Given the description of an element on the screen output the (x, y) to click on. 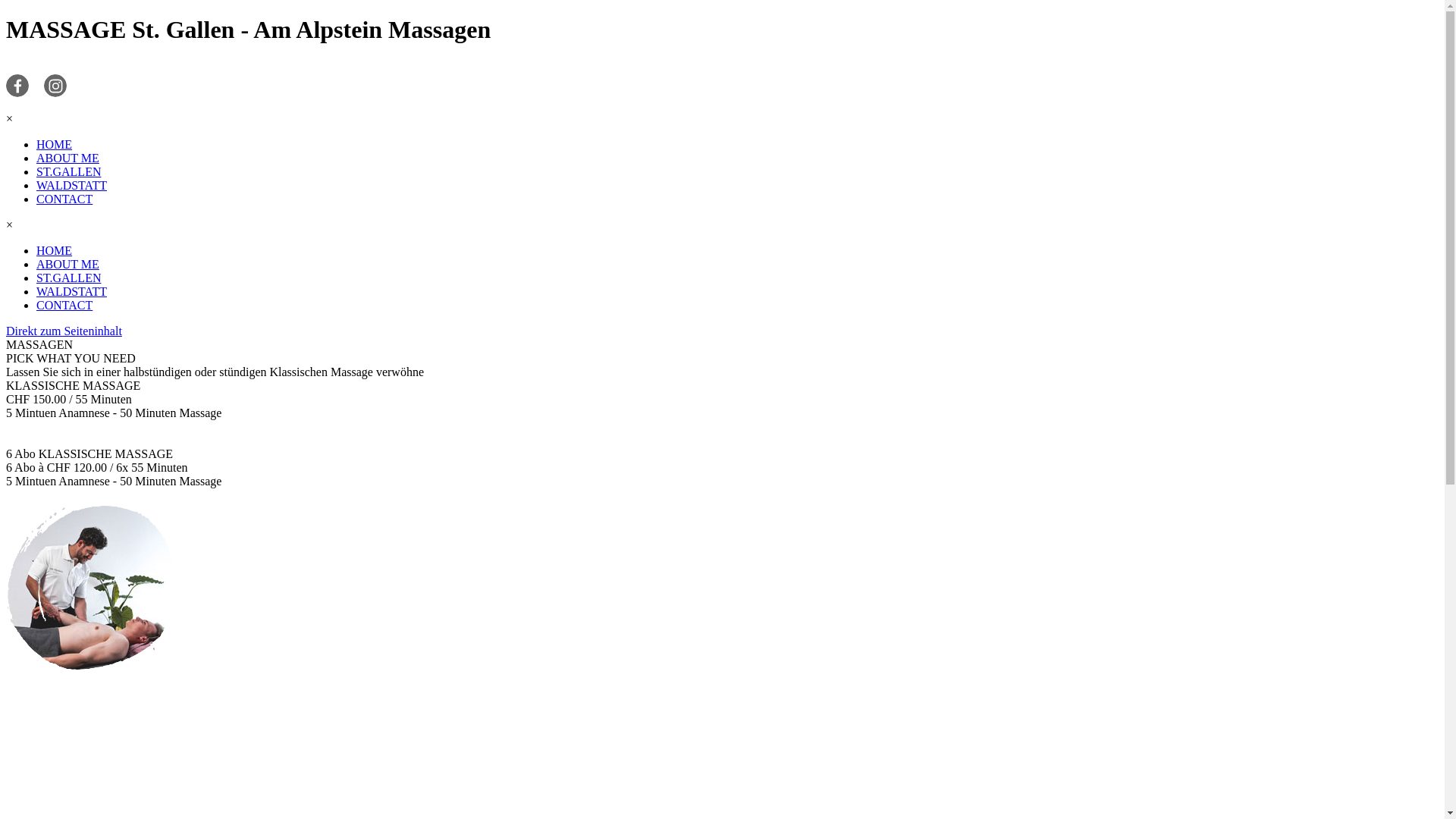
HOME Element type: text (54, 144)
ST.GALLEN Element type: text (68, 277)
CONTACT Element type: text (64, 304)
HOME Element type: text (54, 250)
ST.GALLEN Element type: text (68, 171)
Direkt zum Seiteninhalt Element type: text (64, 330)
WALDSTATT Element type: text (71, 184)
ABOUT ME Element type: text (67, 157)
WALDSTATT Element type: text (71, 291)
ABOUT ME Element type: text (67, 263)
CONTACT Element type: text (64, 198)
